Given the description of an element on the screen output the (x, y) to click on. 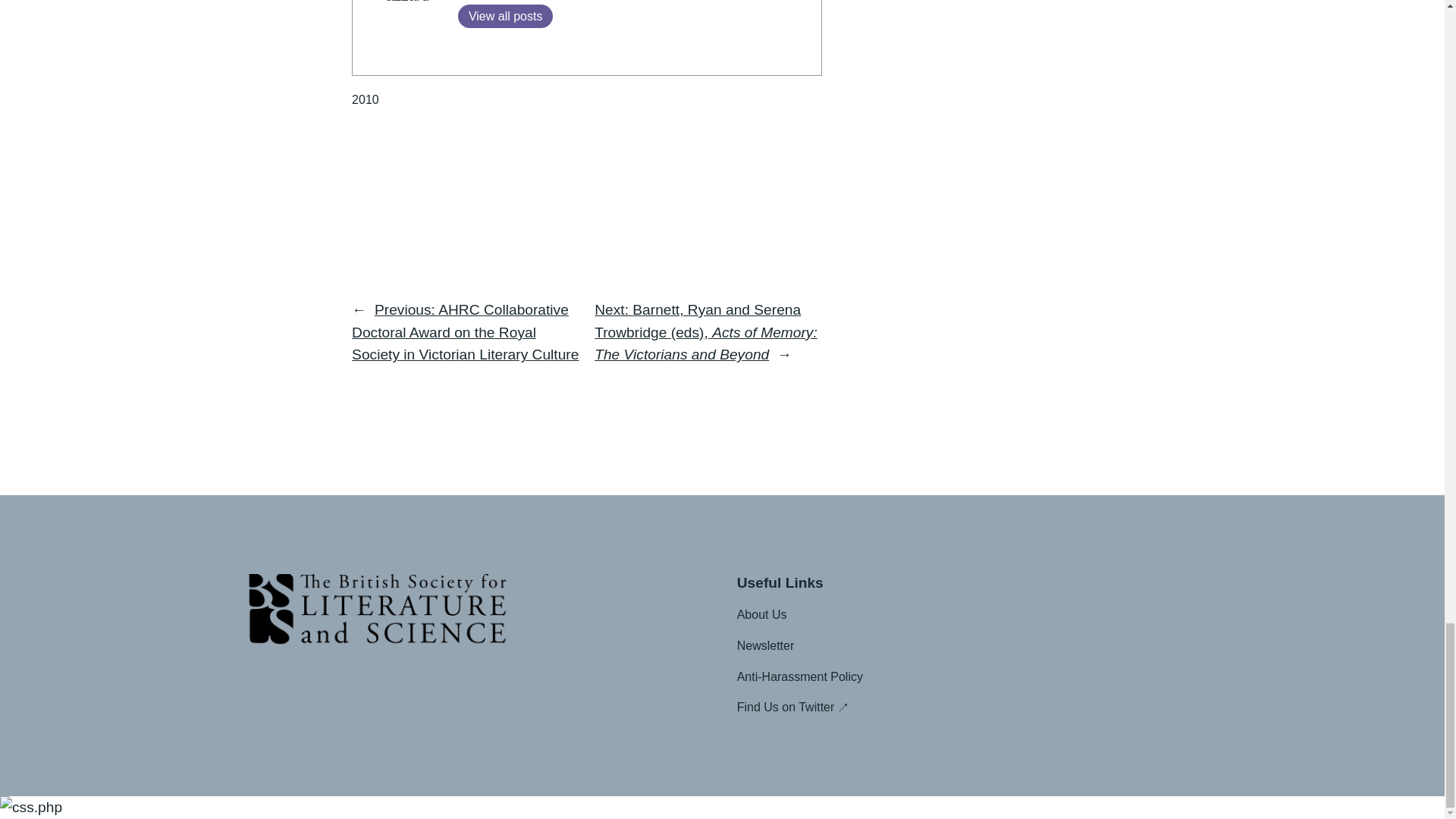
2010 (365, 99)
View all posts (505, 15)
